Given the description of an element on the screen output the (x, y) to click on. 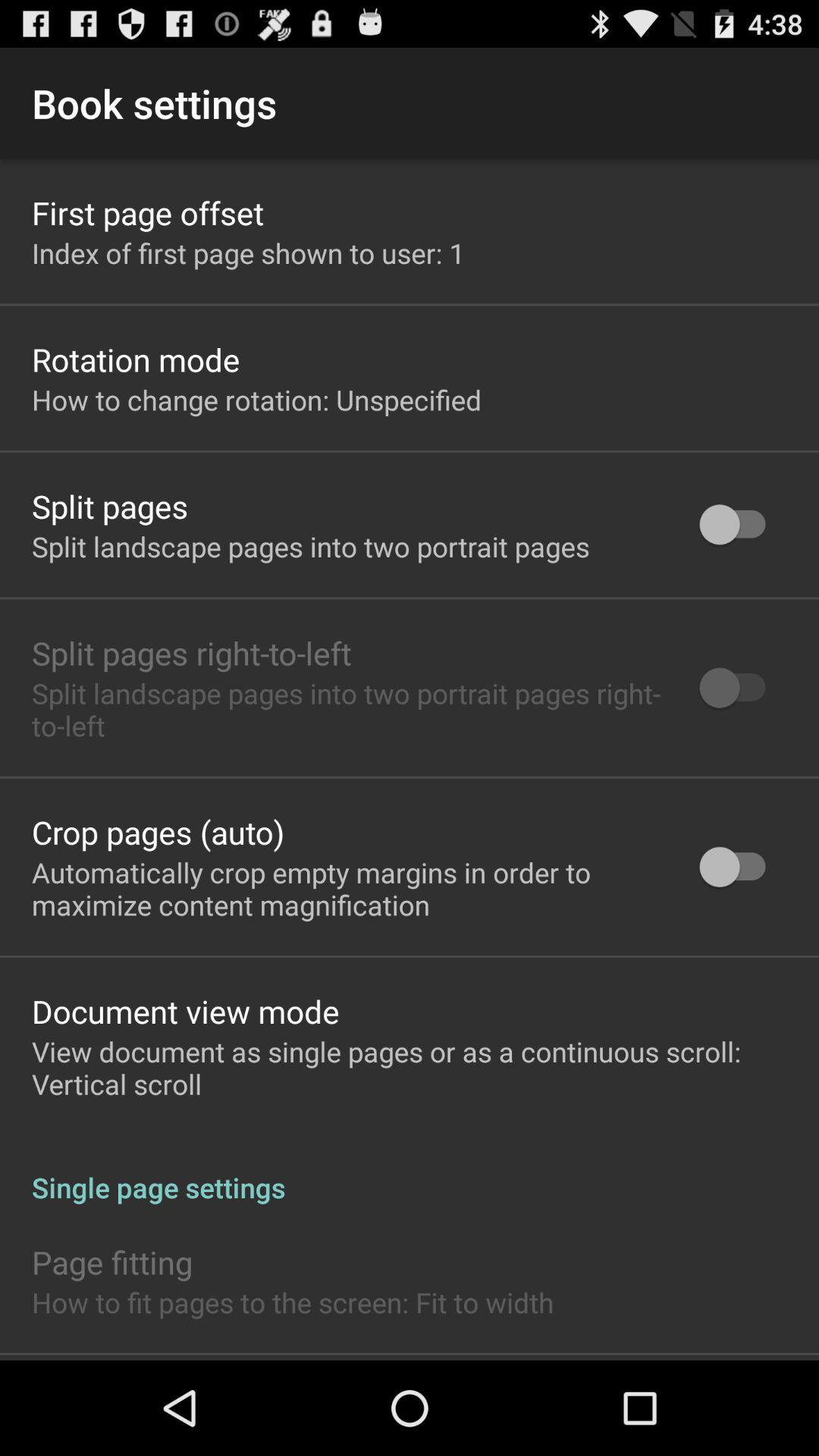
launch the rotation mode icon (135, 359)
